Given the description of an element on the screen output the (x, y) to click on. 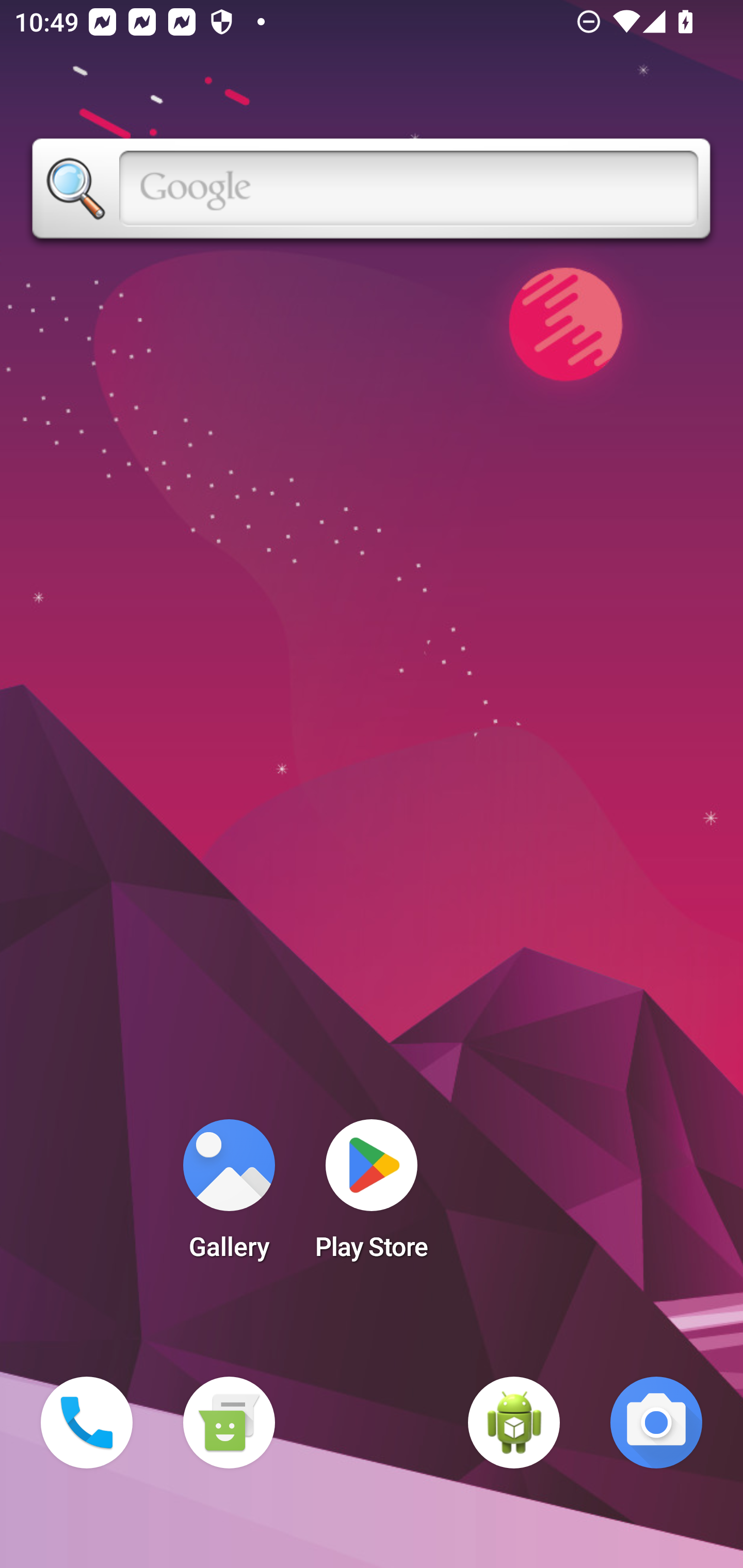
Gallery (228, 1195)
Play Store (371, 1195)
Phone (86, 1422)
Messaging (228, 1422)
WebView Browser Tester (513, 1422)
Camera (656, 1422)
